Given the description of an element on the screen output the (x, y) to click on. 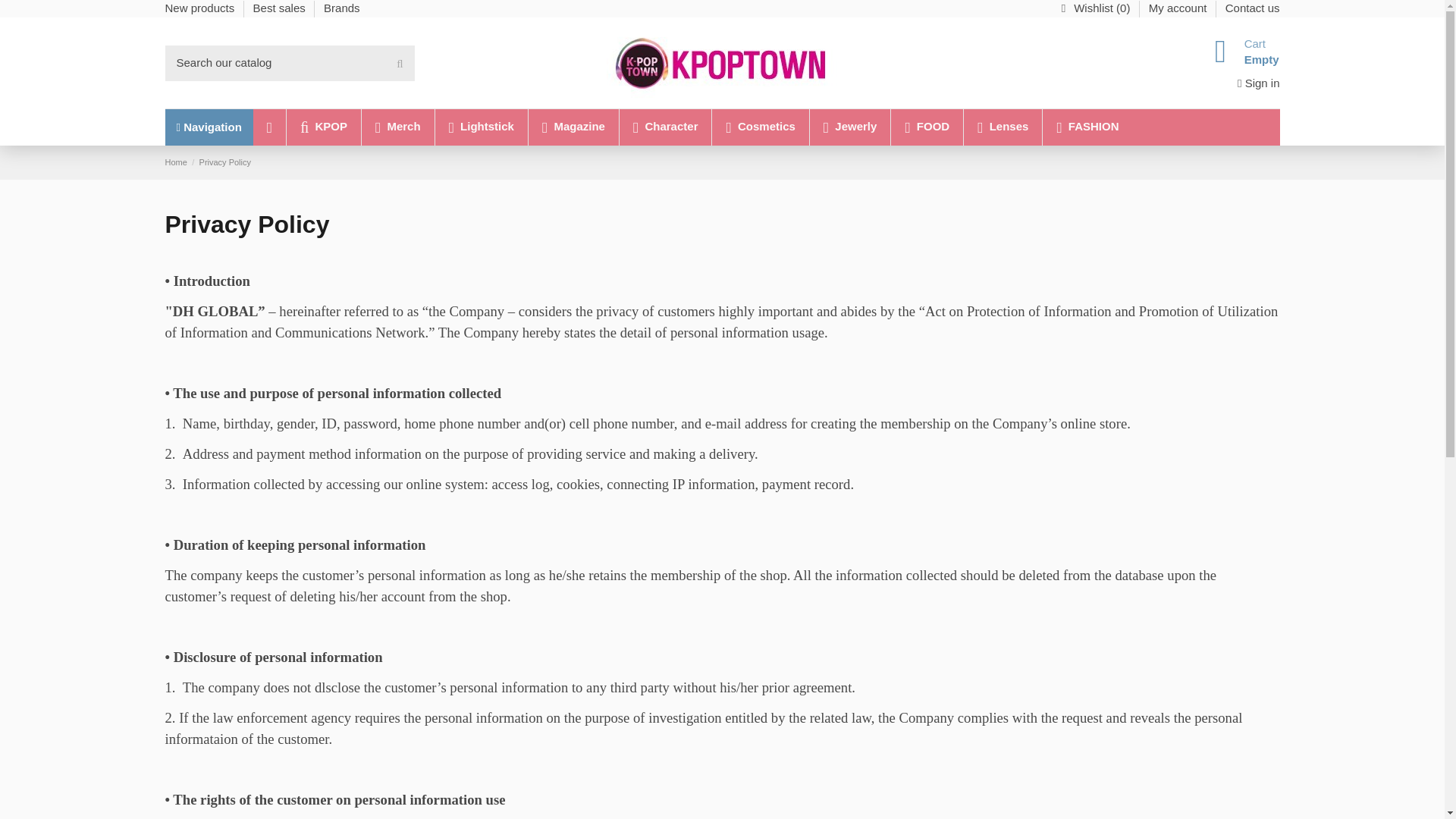
Use our form to contact us (1252, 7)
Sign in (1258, 82)
KPOP (323, 126)
Merch (397, 126)
Our best sales (280, 7)
Best sales (280, 7)
Brands (341, 7)
Contact us (1252, 7)
Our new products (201, 7)
New products (201, 7)
